Given the description of an element on the screen output the (x, y) to click on. 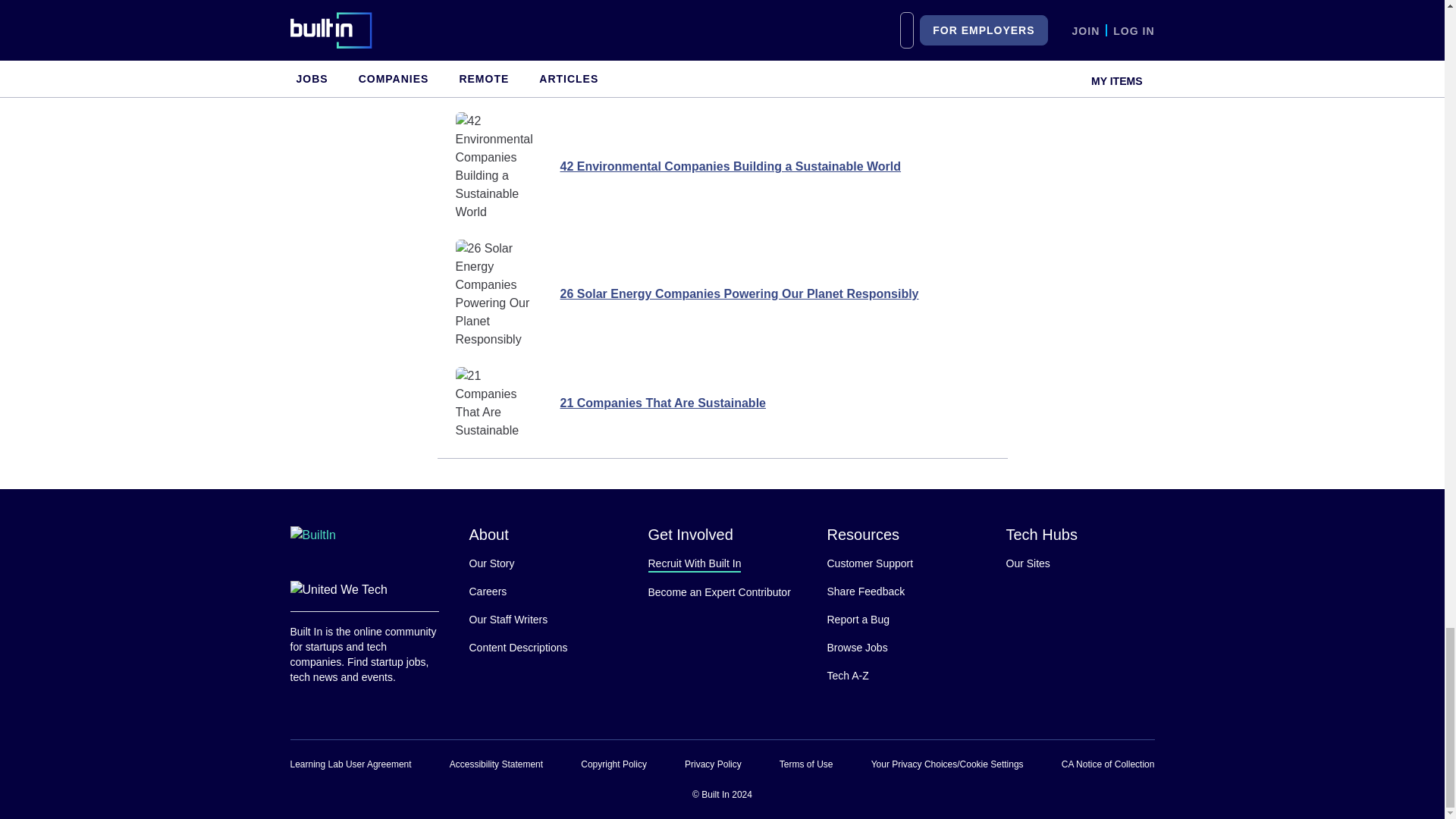
This Framework Is the Future of App Development (722, 11)
42 Environmental Companies Building a Sustainable World (721, 166)
21 Companies That Are Sustainable (721, 402)
26 Solar Energy Companies Powering Our Planet Responsibly (721, 293)
